Given the description of an element on the screen output the (x, y) to click on. 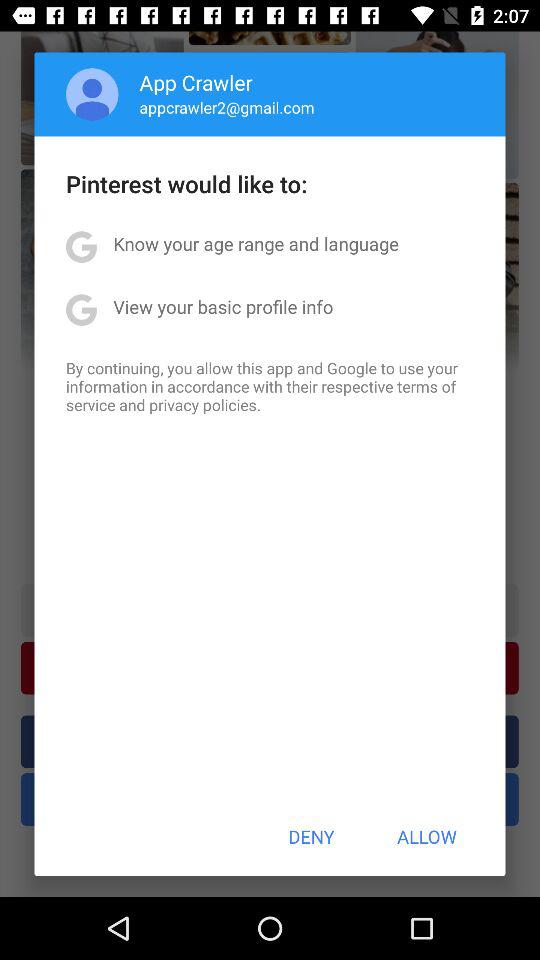
select the app below the pinterest would like app (255, 243)
